Given the description of an element on the screen output the (x, y) to click on. 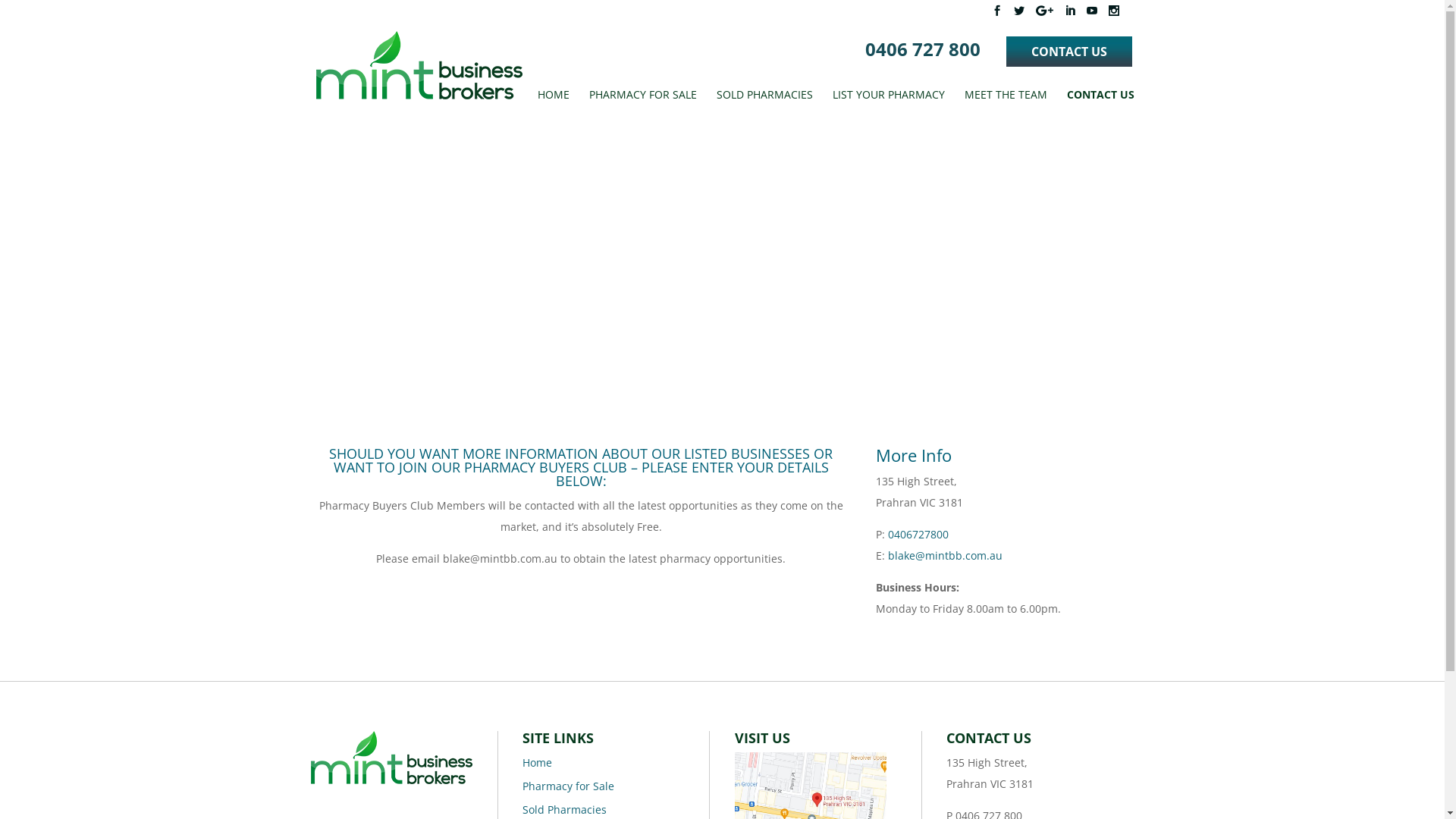
PHARMACY FOR SALE Element type: text (642, 100)
Sold Pharmacies Element type: text (564, 809)
LIST YOUR PHARMACY Element type: text (888, 100)
Pharmacy for Sale Element type: text (568, 785)
Home Element type: text (537, 762)
CONTACT US Element type: text (1099, 100)
0406 727 800 Element type: text (929, 50)
CONTACT US Element type: text (1068, 51)
HOME Element type: text (552, 100)
blake@mintbb.com.au Element type: text (945, 554)
SOLD PHARMACIES Element type: text (763, 100)
0406727800 Element type: text (918, 533)
MEET THE TEAM Element type: text (1005, 100)
